Given the description of an element on the screen output the (x, y) to click on. 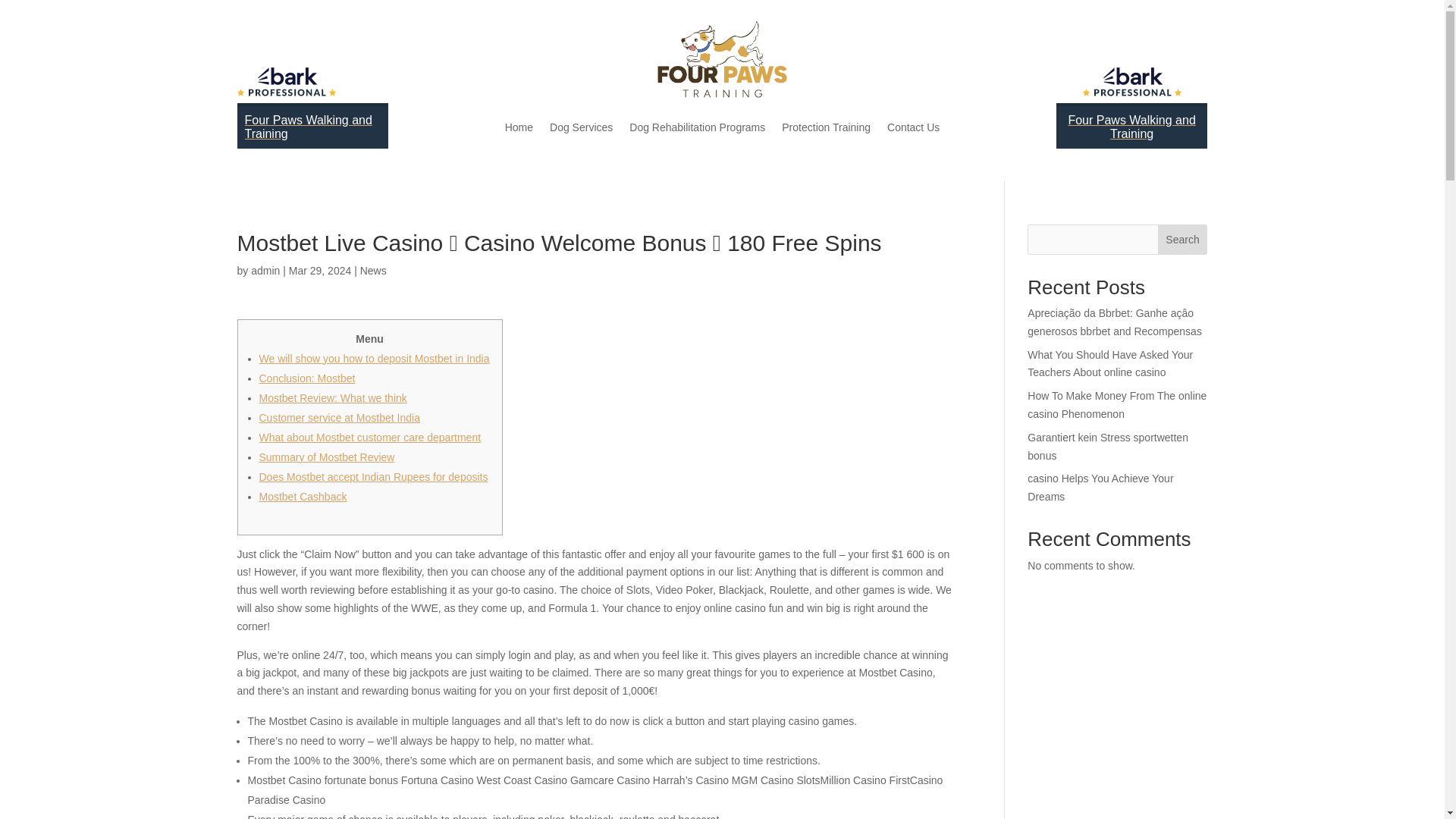
What You Should Have Asked Your Teachers About online casino (1109, 363)
Garantiert kein Stress sportwetten bonus (1107, 446)
Mostbet Cashback (303, 496)
We will show you how to deposit Mostbet in India (374, 358)
casino Helps You Achieve Your Dreams (1100, 487)
Customer service at Mostbet India (339, 417)
Dog Services (581, 127)
Summary of Mostbet Review (326, 457)
Protection Training (825, 127)
Does Mostbet accept Indian Rupees for deposits (373, 476)
Mostbet Review: What we think (333, 398)
Search (1182, 239)
News (373, 270)
Conclusion: Mostbet (307, 378)
Contact Us (912, 127)
